Given the description of an element on the screen output the (x, y) to click on. 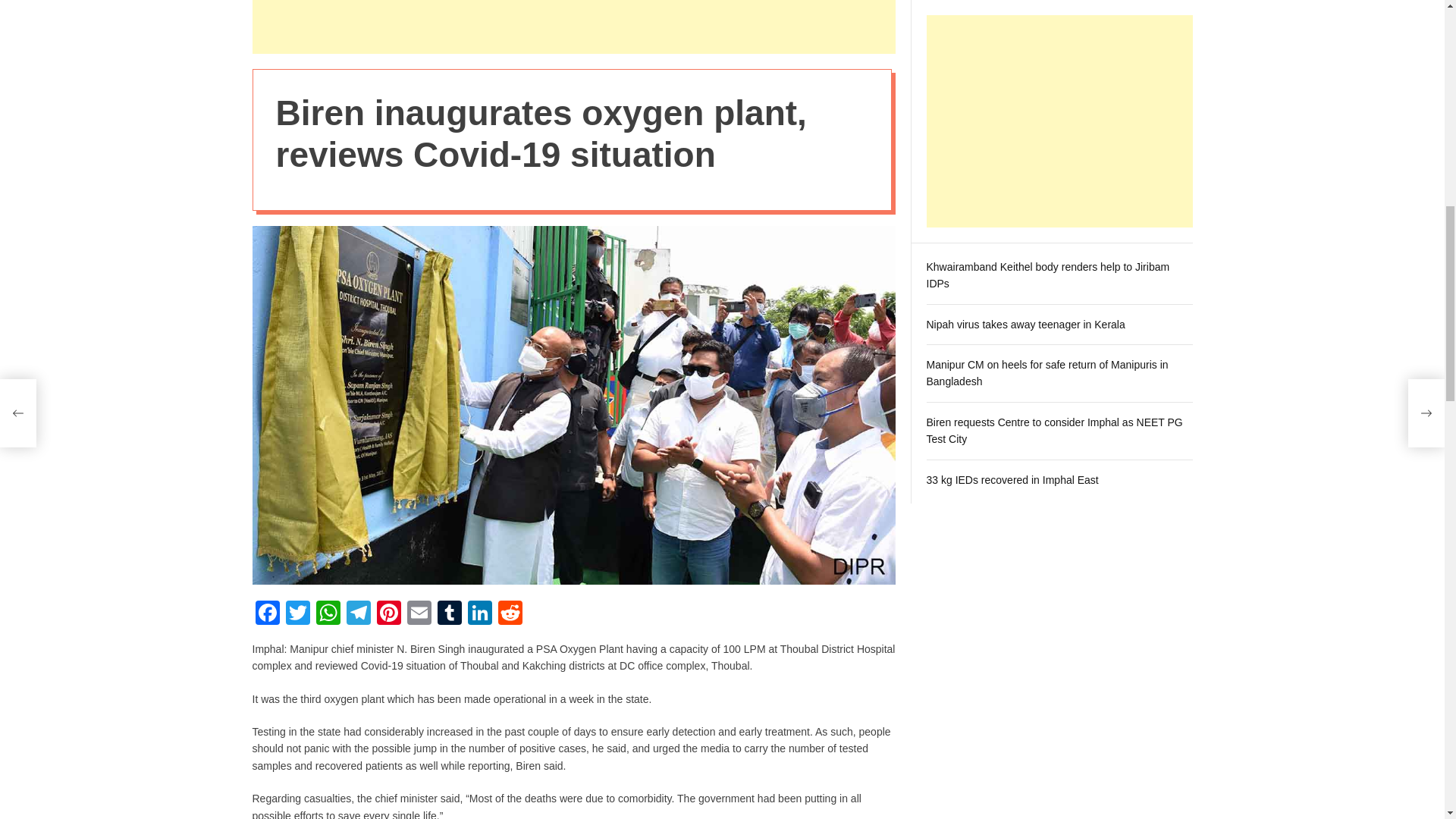
Pinterest (387, 614)
Telegram (357, 614)
Khwairamband Keithel body renders help to Jiribam IDPs (1048, 95)
Reddit (509, 614)
WhatsApp (327, 614)
LinkedIn (479, 614)
Twitter (297, 614)
Nipah virus takes away teenager in Kerala (1025, 144)
LinkedIn (479, 614)
Facebook (266, 614)
Tumblr (448, 614)
Email (418, 614)
Tumblr (448, 614)
Email (418, 614)
